Given the description of an element on the screen output the (x, y) to click on. 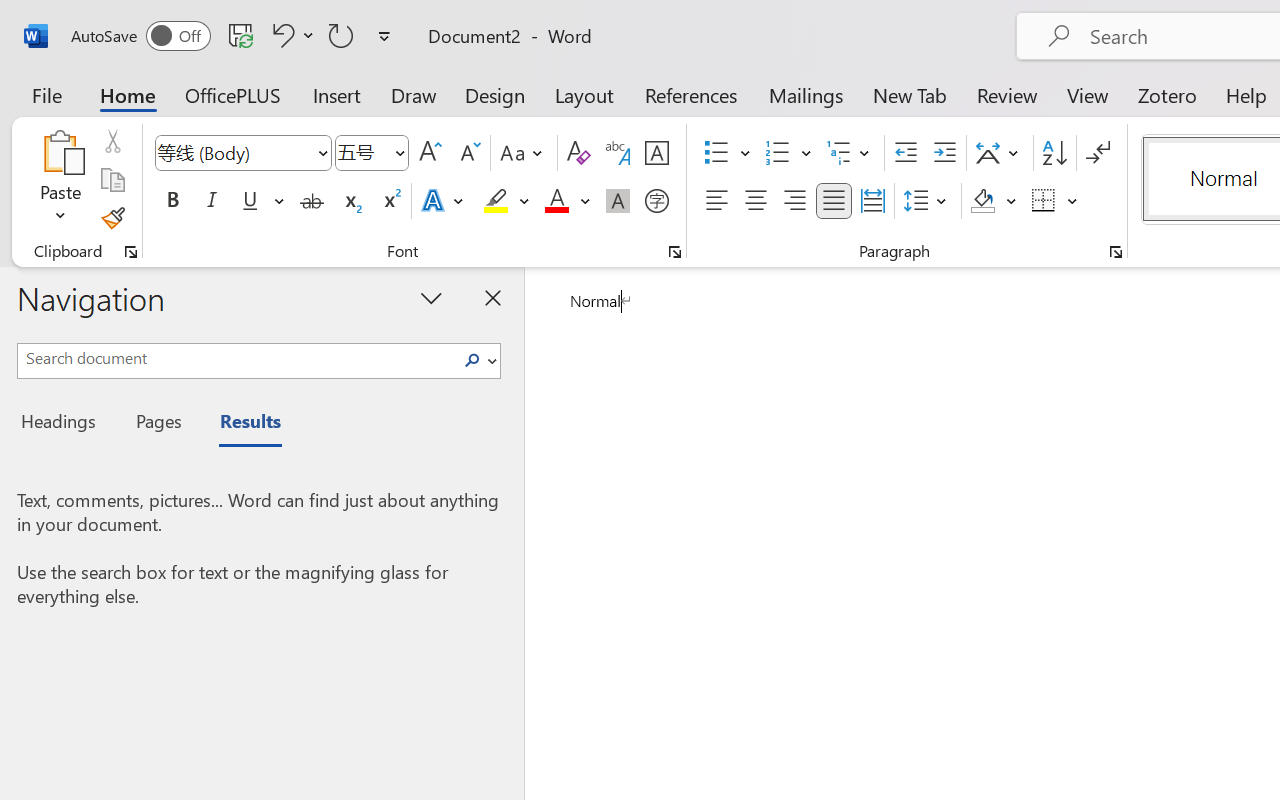
Character Border (656, 153)
Text Highlight Color Yellow (495, 201)
Line and Paragraph Spacing (927, 201)
Customize Quick Access Toolbar (384, 35)
Search (471, 360)
Justify (834, 201)
OfficePLUS (233, 94)
Align Right (794, 201)
Character Shading (618, 201)
Review (1007, 94)
Decrease Indent (906, 153)
Asian Layout (1000, 153)
